Given the description of an element on the screen output the (x, y) to click on. 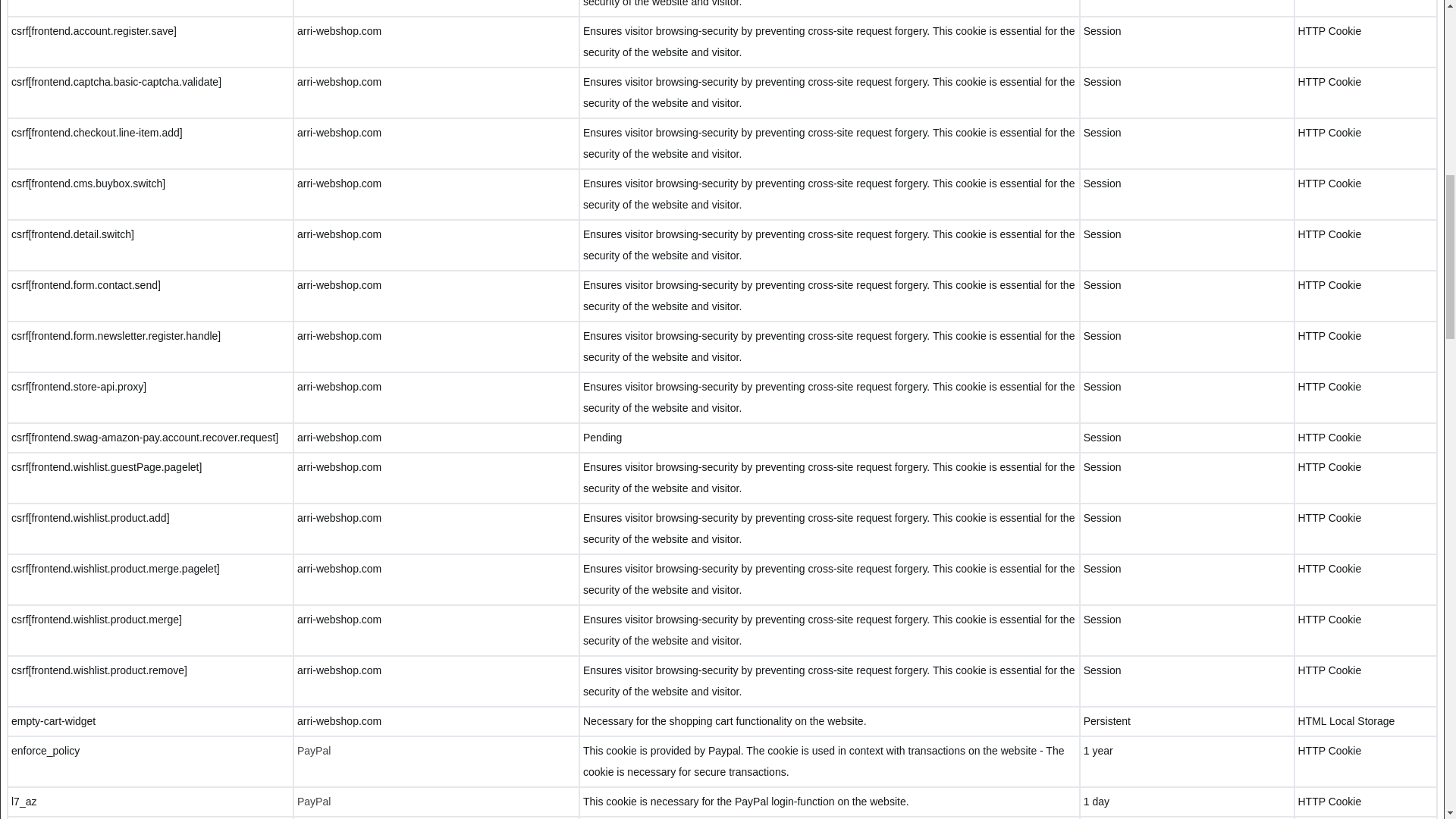
PayPal's privacy policy (313, 750)
PayPal's privacy policy (313, 801)
PayPal (313, 801)
PayPal (313, 750)
